Given the description of an element on the screen output the (x, y) to click on. 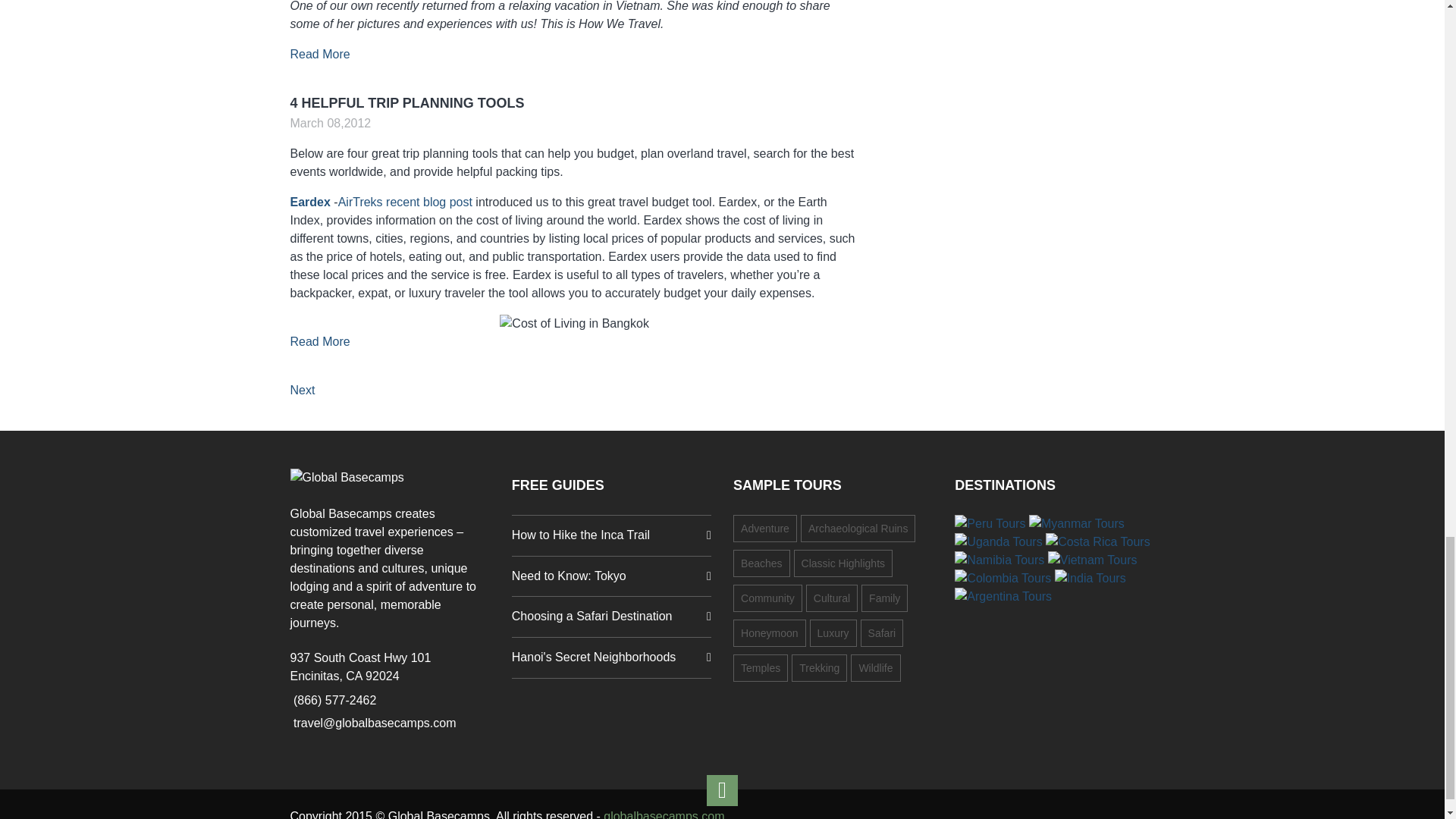
Need to Know: Tokyo (611, 576)
Cost of Living in Bangkok (574, 323)
Eardex (309, 201)
How to Hike the Inca Trail (611, 535)
Hanoi's Secret Neighborhoods (611, 657)
Choosing a Safari Destination (611, 616)
Best New Travel Budget Planning Tool-Eardex (404, 201)
